Given the description of an element on the screen output the (x, y) to click on. 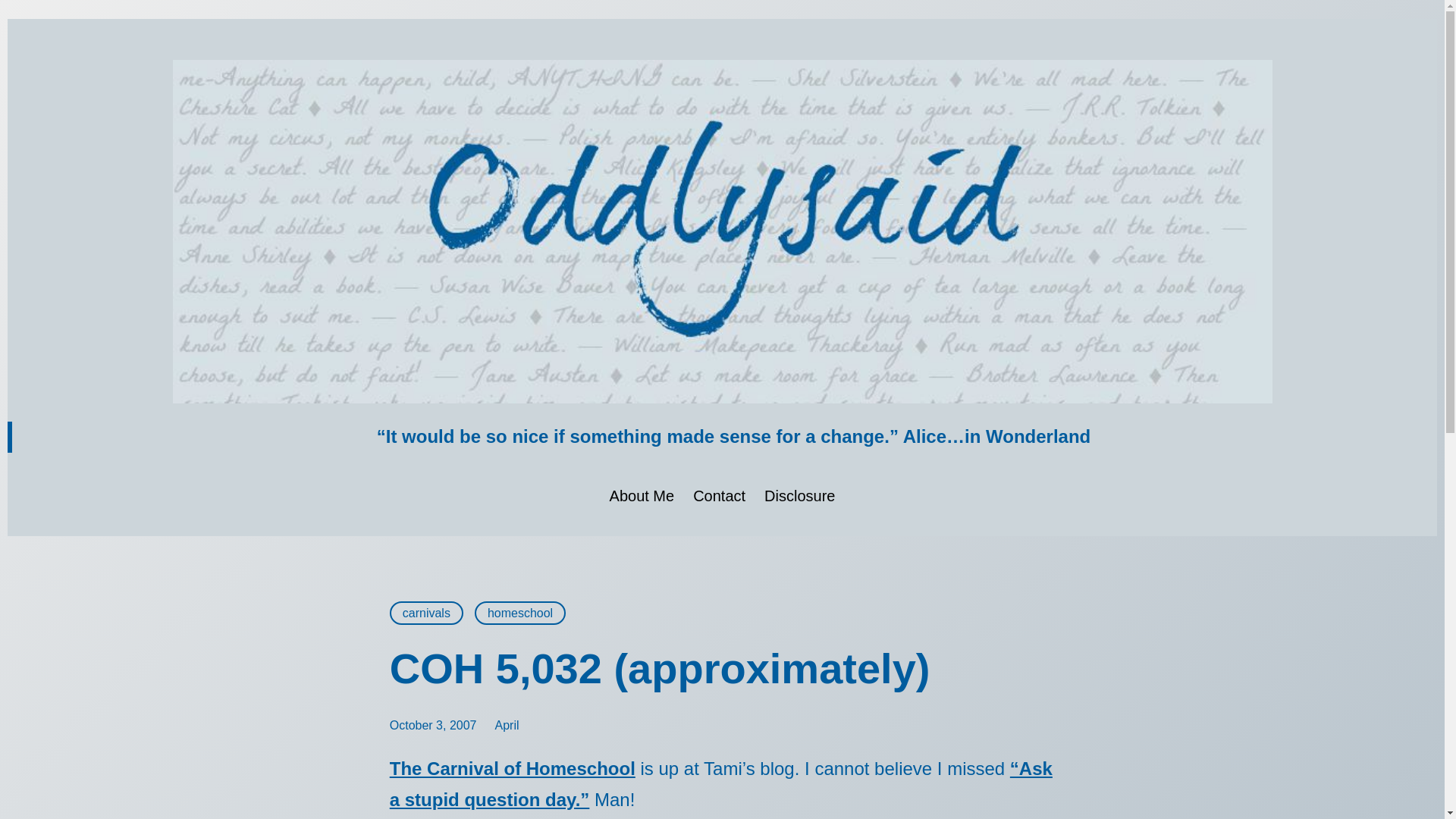
The Carnival of Homeschool (512, 768)
About Me (642, 495)
Disclosure (799, 495)
Contact (719, 495)
carnivals (426, 612)
homeschool (520, 612)
